Given the description of an element on the screen output the (x, y) to click on. 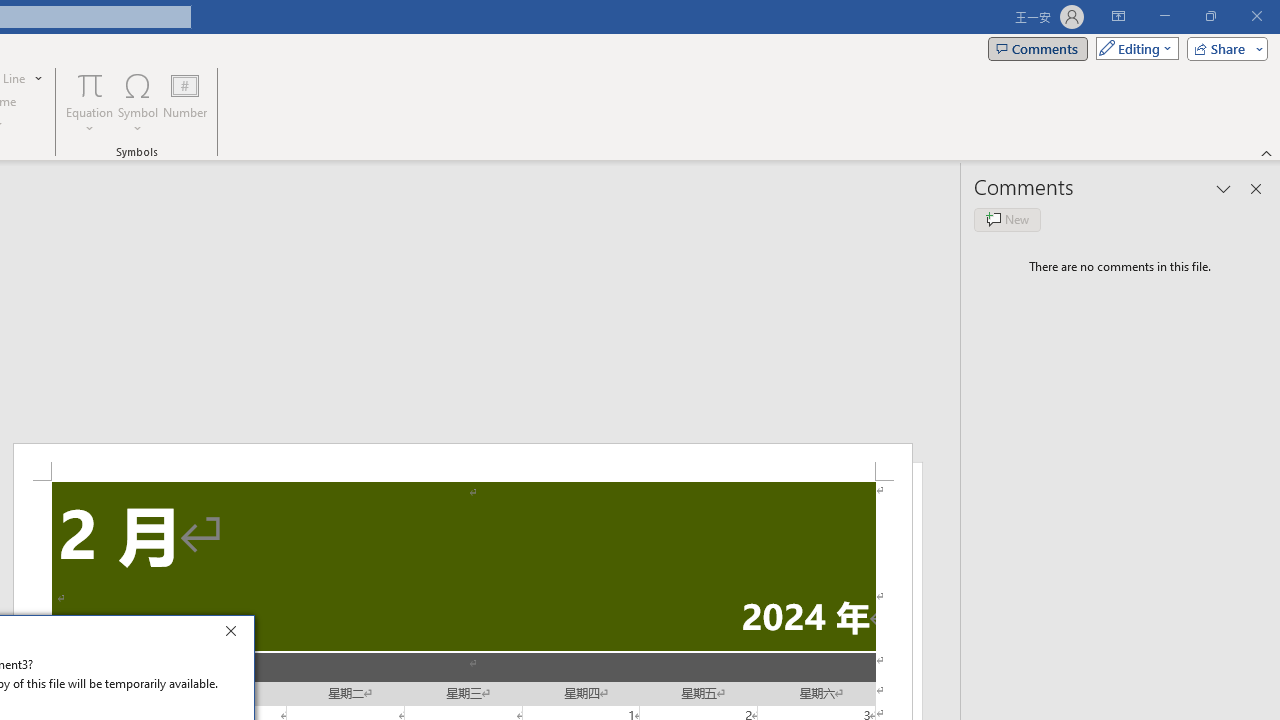
Mode (1133, 47)
Collapse the Ribbon (1267, 152)
Share (1223, 48)
Comments (1038, 48)
Task Pane Options (1224, 188)
Header -Section 2- (462, 461)
Ribbon Display Options (1118, 16)
Minimize (1164, 16)
Equation (90, 84)
Symbol (138, 102)
Restore Down (1210, 16)
